Given the description of an element on the screen output the (x, y) to click on. 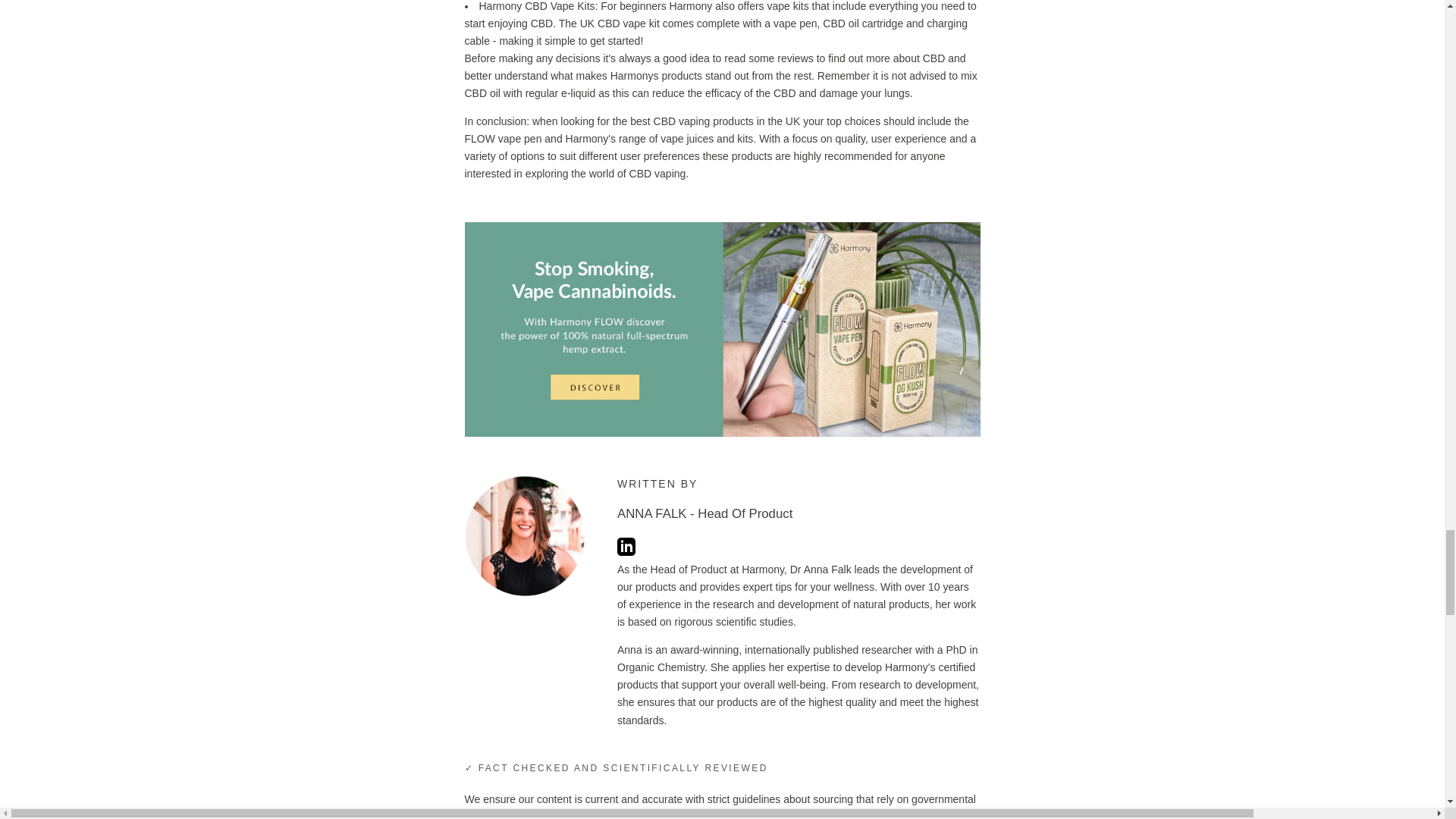
CBD Vape (721, 230)
